Given the description of an element on the screen output the (x, y) to click on. 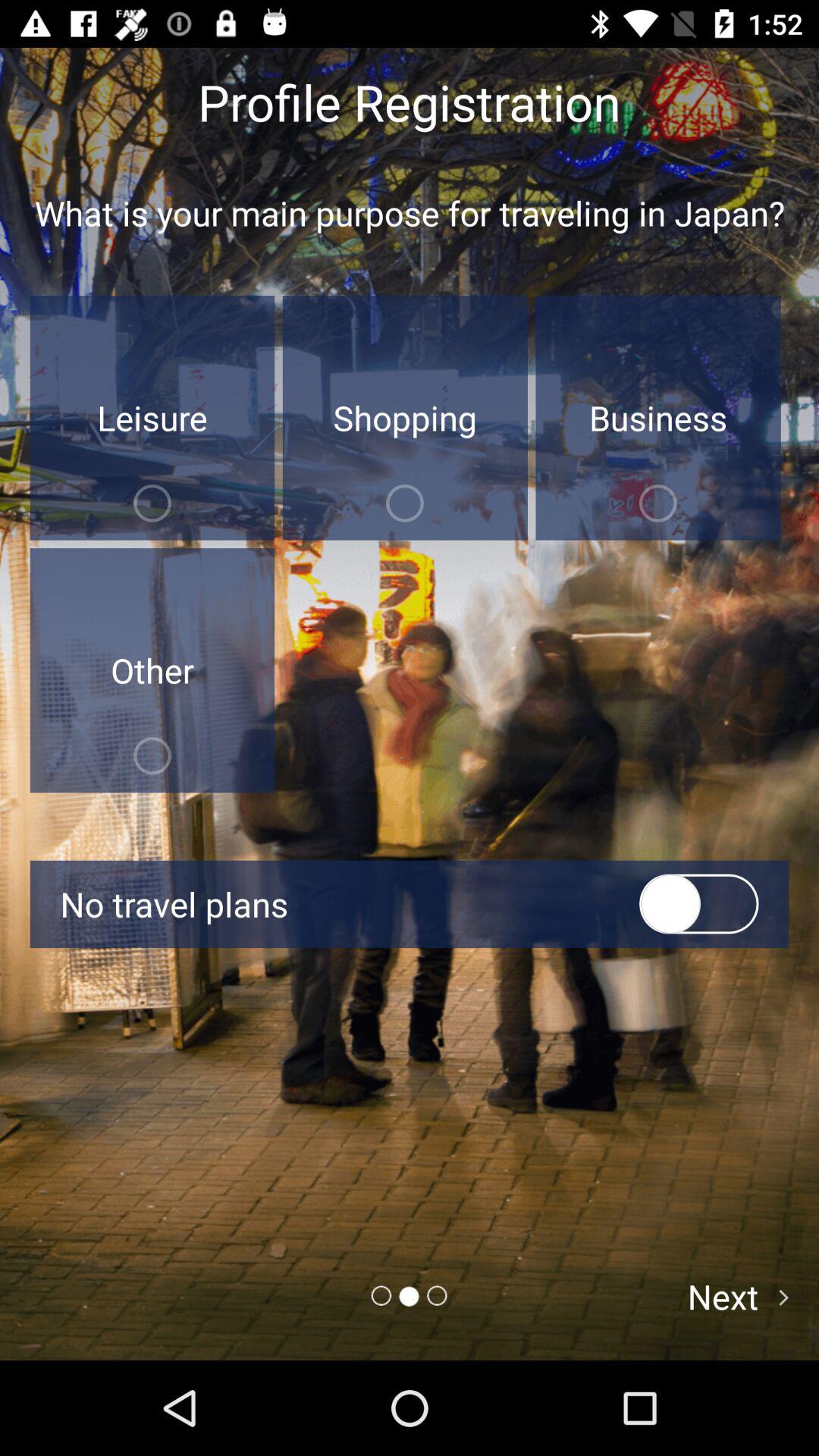
turn off or on (698, 903)
